Given the description of an element on the screen output the (x, y) to click on. 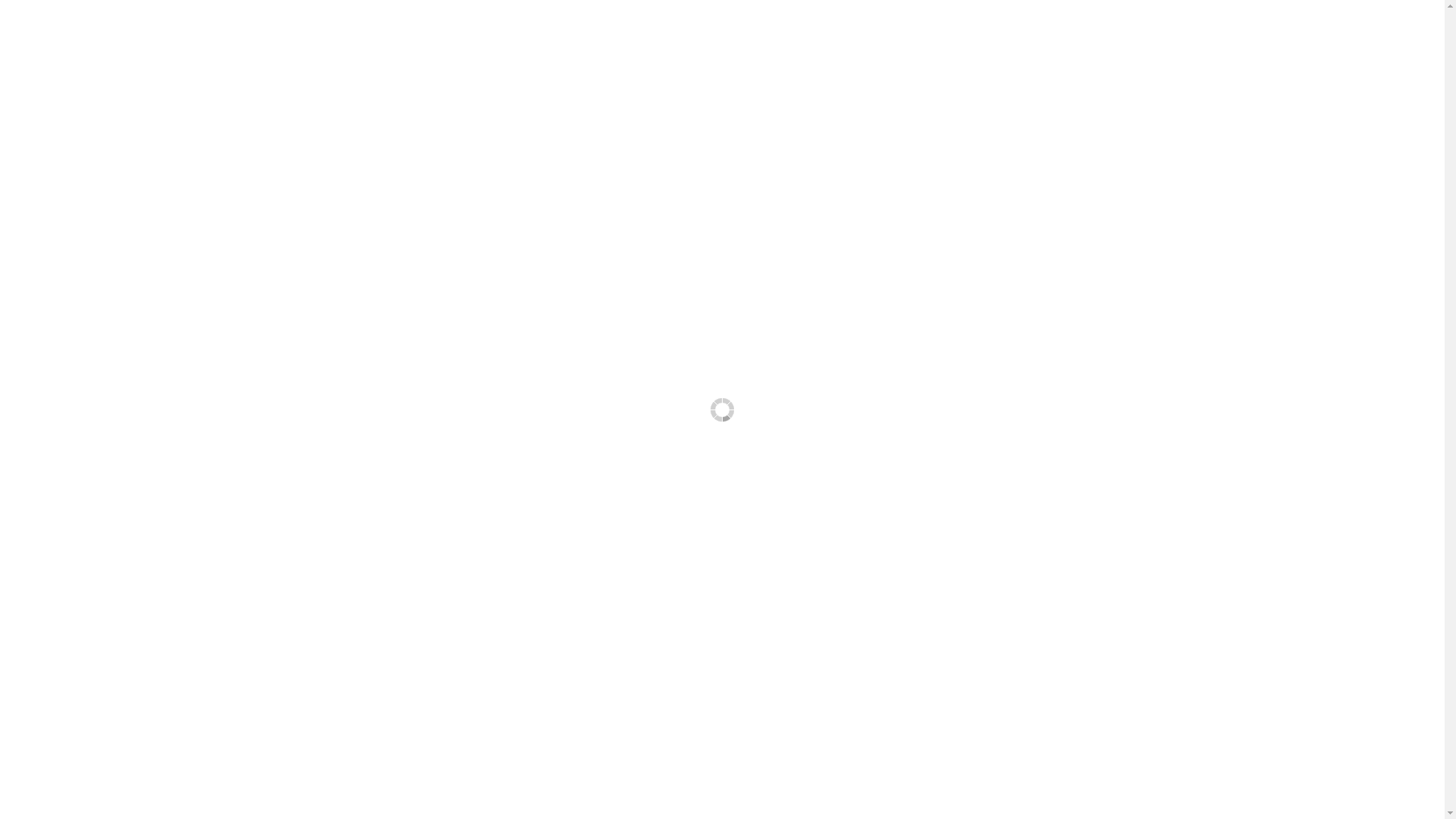
ABOUT Element type: text (1273, 46)
facebook Element type: text (1103, 793)
CONTACT Element type: text (1331, 46)
PORTFOLIO Element type: text (1212, 46)
instagram Element type: text (1187, 793)
twitter Element type: text (1077, 793)
linkedin Element type: text (1159, 793)
vimeo Element type: text (1130, 793)
TEAM Element type: text (1393, 46)
